Given the description of an element on the screen output the (x, y) to click on. 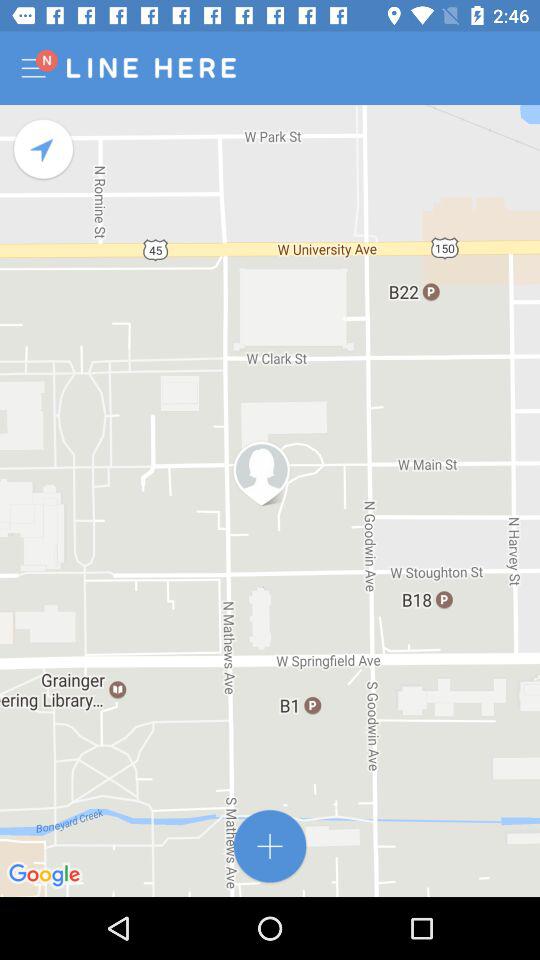
click to zoom-in (269, 846)
